Given the description of an element on the screen output the (x, y) to click on. 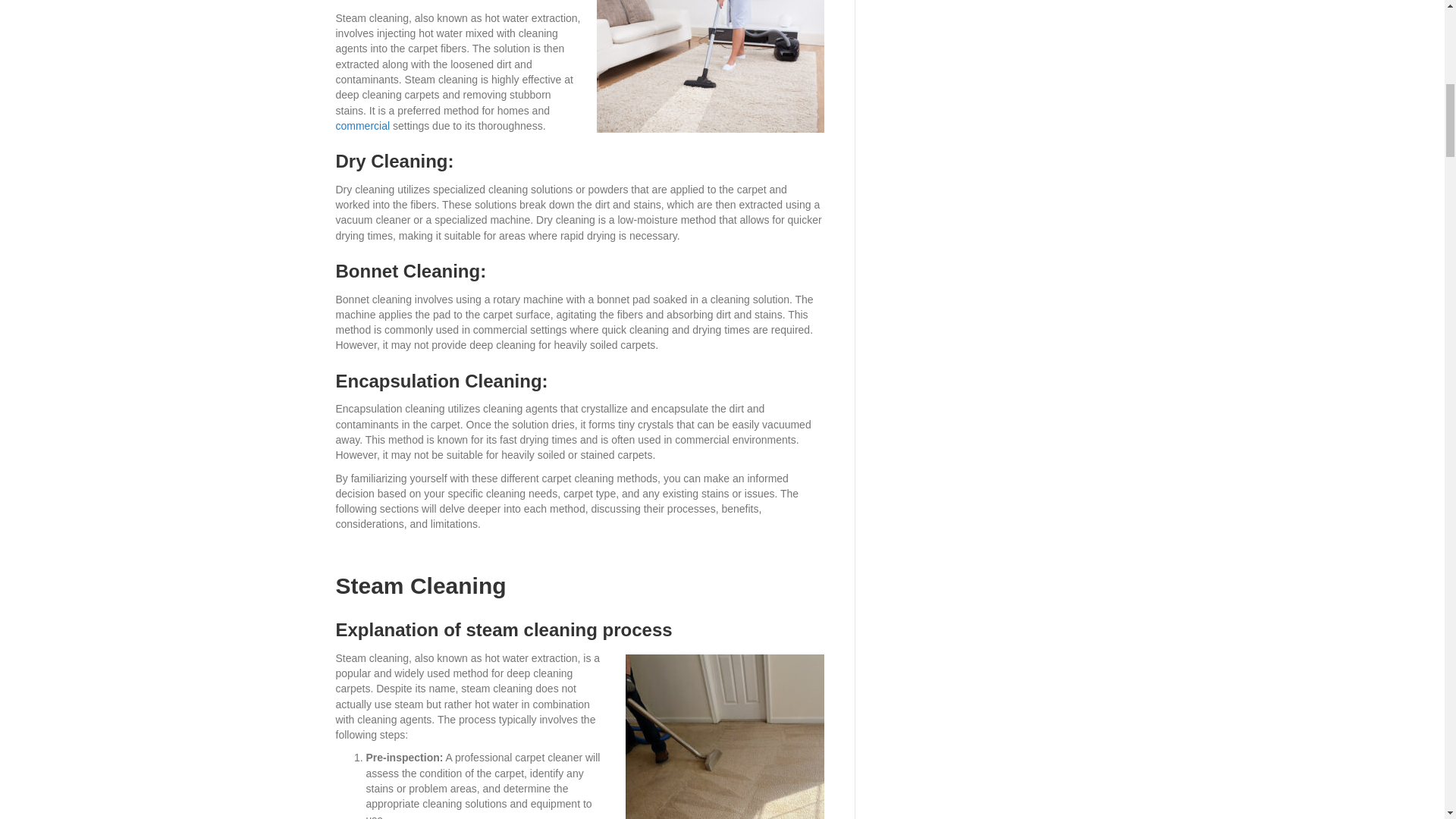
Tips For Keeping Commercial Carpets Clean (362, 125)
commercial (362, 125)
